Given the description of an element on the screen output the (x, y) to click on. 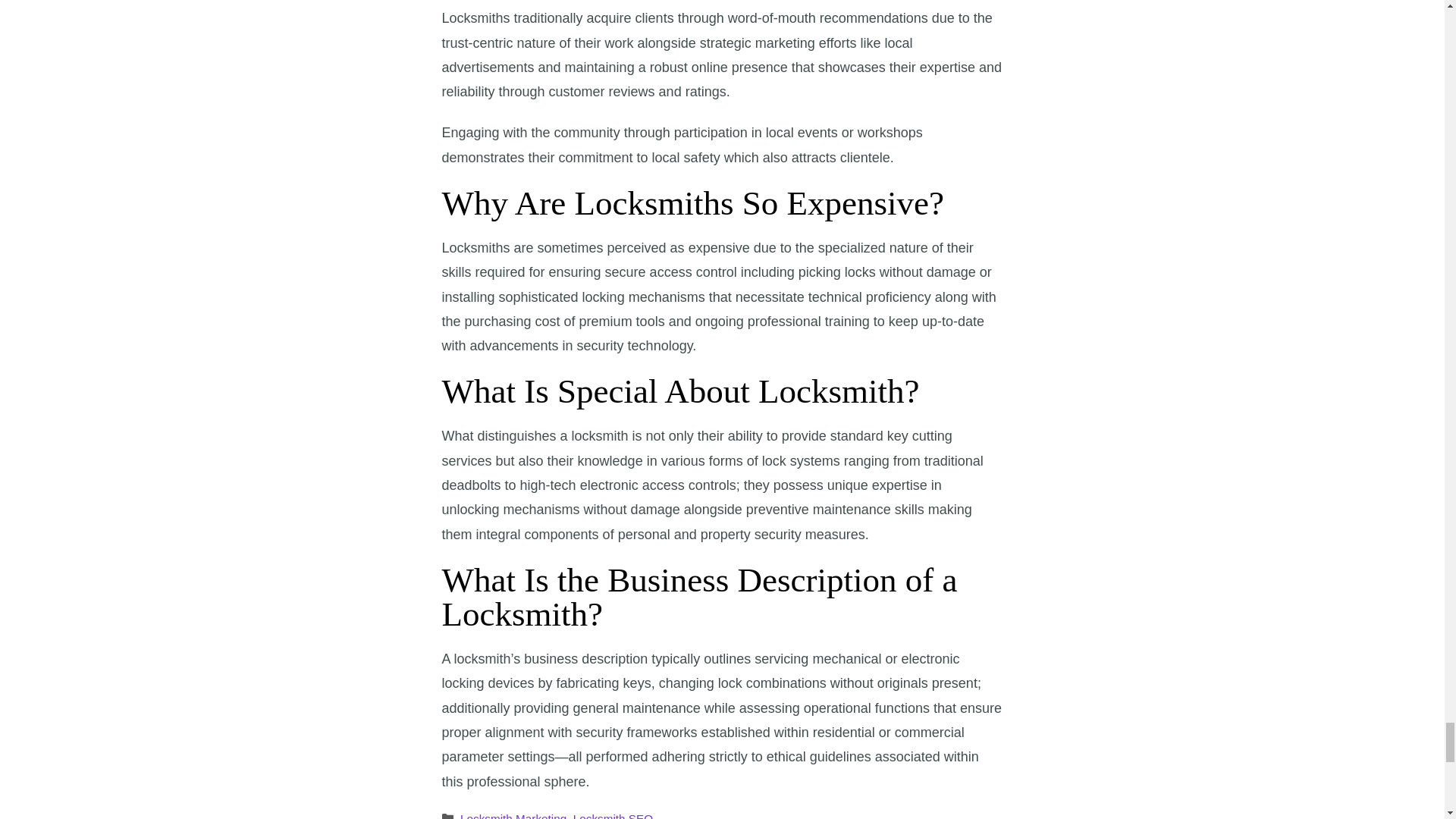
Locksmith Marketing (513, 815)
Locksmith SEO (612, 815)
